Given the description of an element on the screen output the (x, y) to click on. 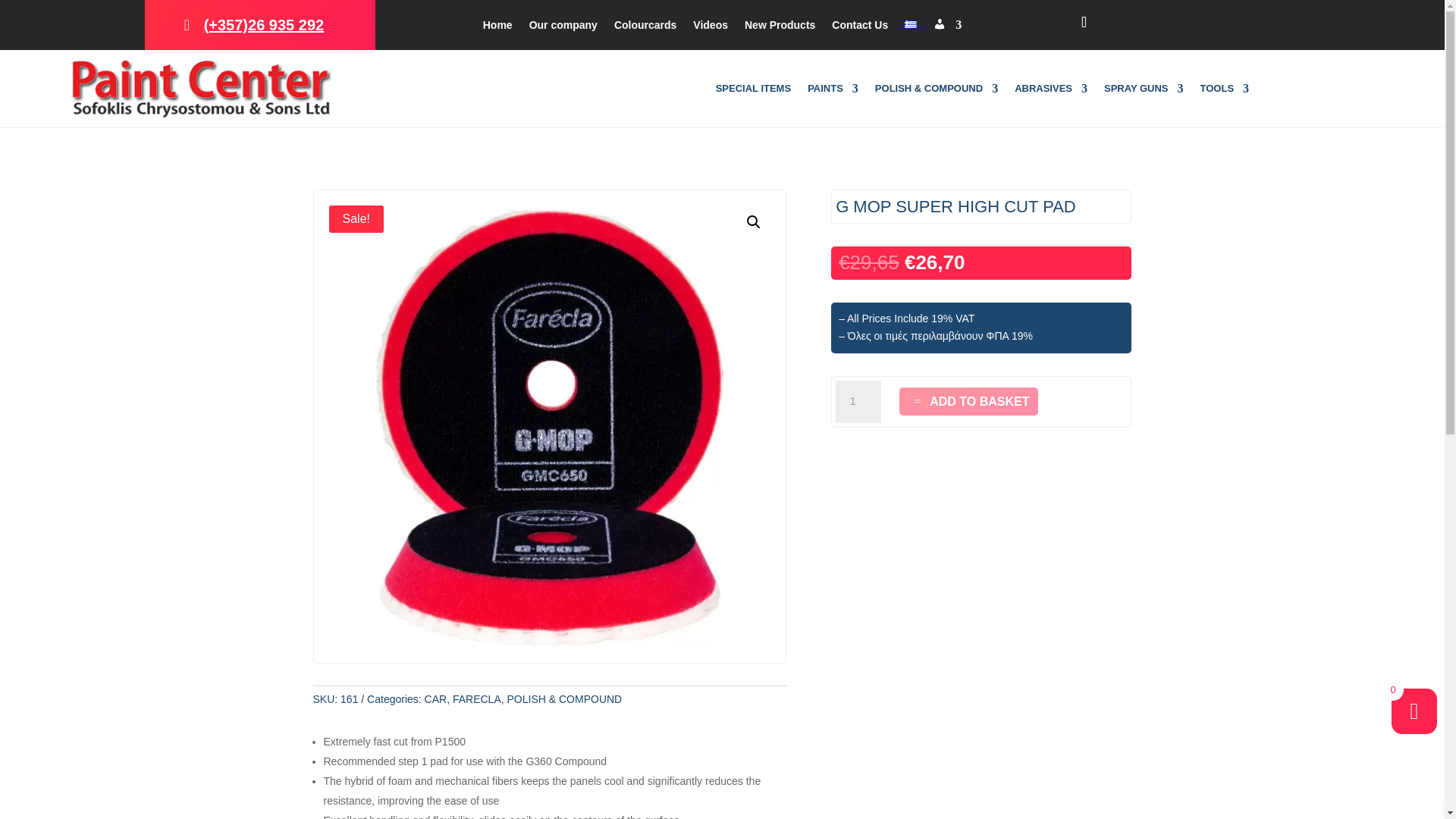
Our company (562, 27)
New Products (779, 27)
Follow on Facebook (1083, 21)
Videos (710, 27)
Colourcards (645, 27)
Logo500 (201, 88)
1 (857, 401)
Contact Us (859, 27)
SPECIAL ITEMS (753, 91)
My account (946, 27)
PAINTS (833, 91)
Home (497, 27)
